Given the description of an element on the screen output the (x, y) to click on. 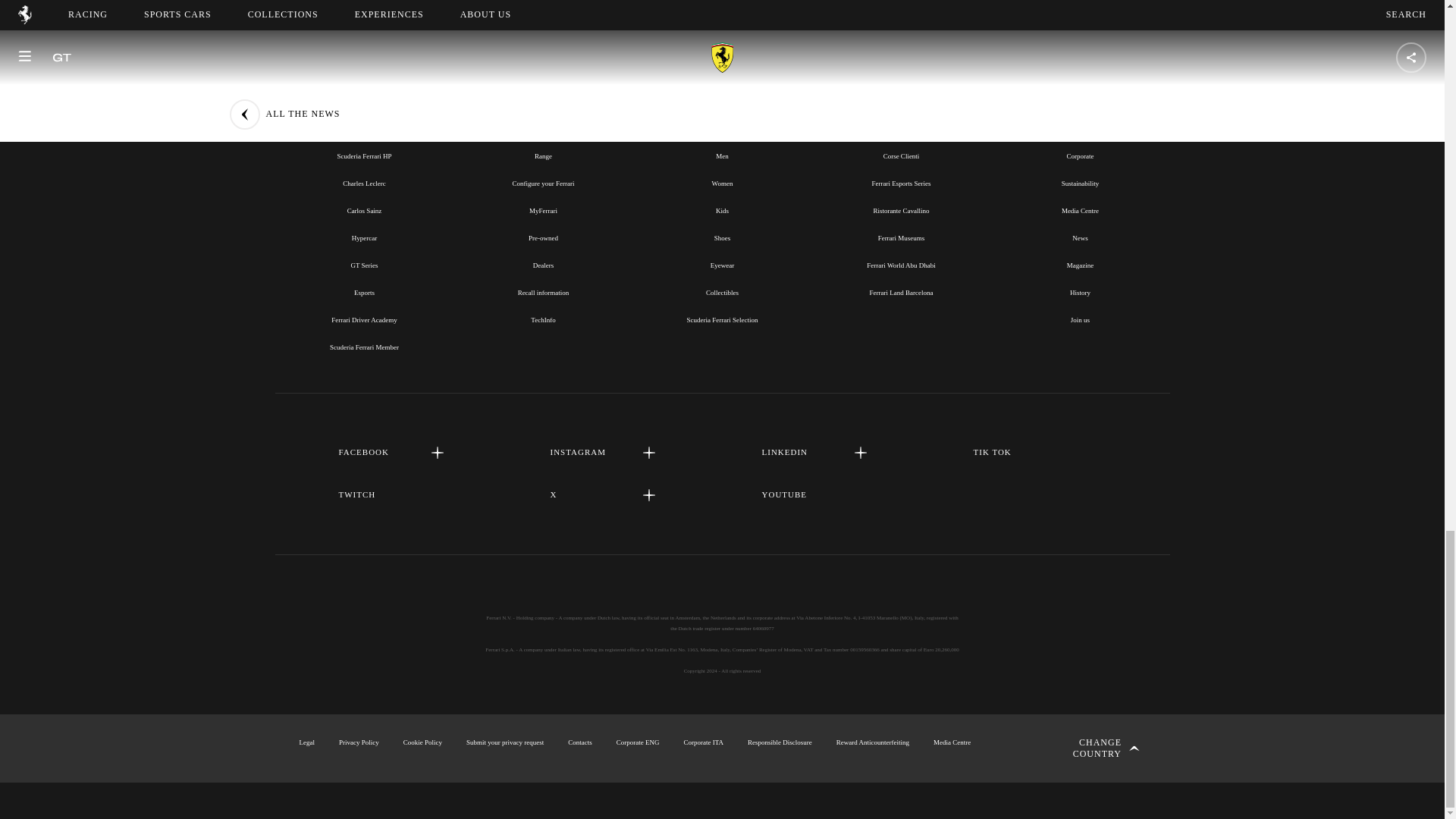
TechInfo (542, 319)
Range (542, 155)
Change country (1090, 748)
Configure your Ferrari (543, 183)
Charles Leclerc (363, 183)
MyFerrari (543, 210)
Carlos Sainz (364, 210)
Esports (363, 292)
SUBSCRIBE (721, 2)
COLLECTIONS (721, 121)
Pre-owned (542, 237)
Recall information (543, 292)
COLLECTIONS (721, 121)
RACING (363, 121)
Hypercar (364, 237)
